Given the description of an element on the screen output the (x, y) to click on. 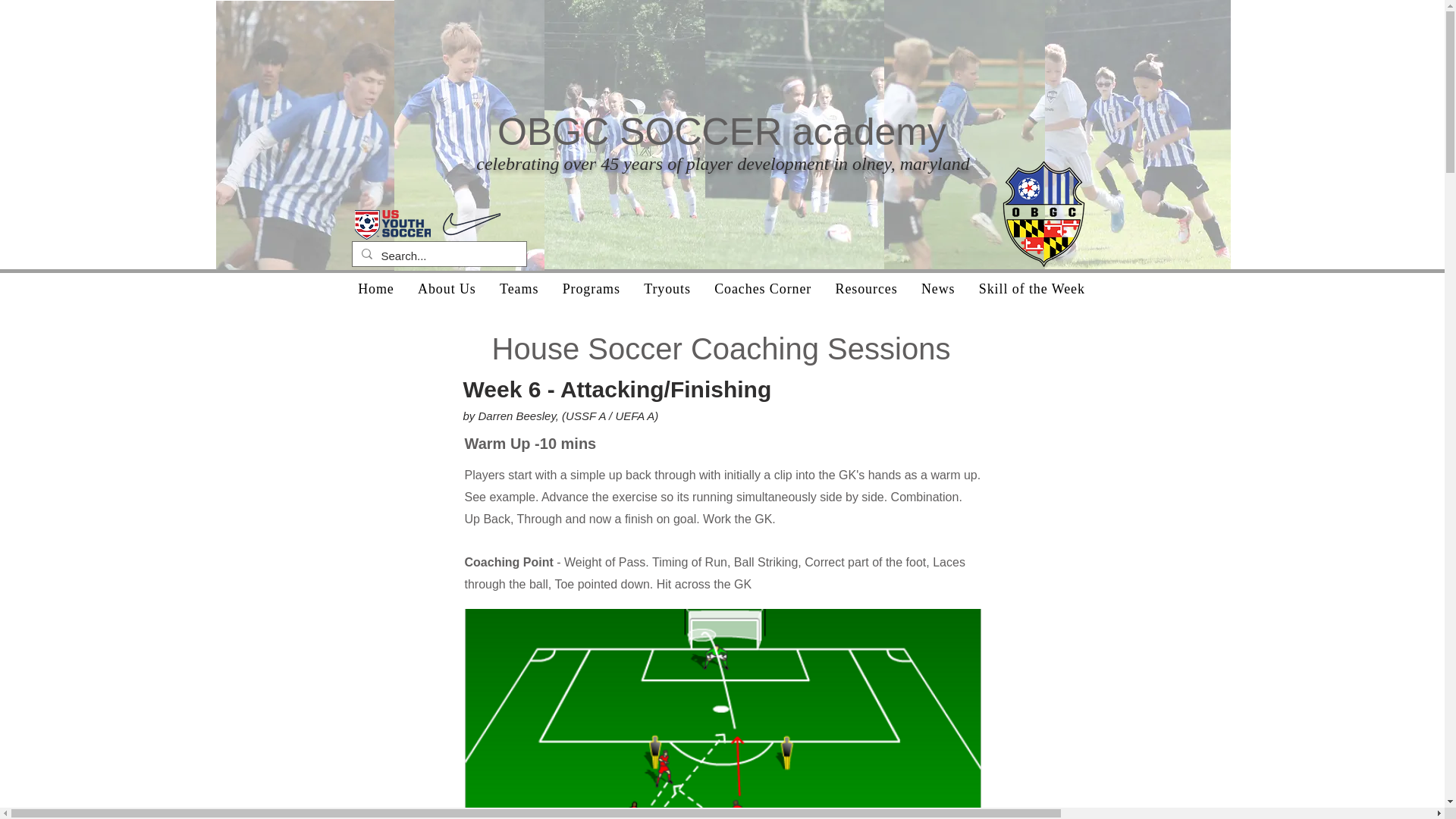
Teams (518, 288)
Programs (590, 288)
Coaches Corner (761, 288)
Tryouts (667, 288)
About Us (446, 288)
Home (376, 288)
Resources (866, 288)
